Given the description of an element on the screen output the (x, y) to click on. 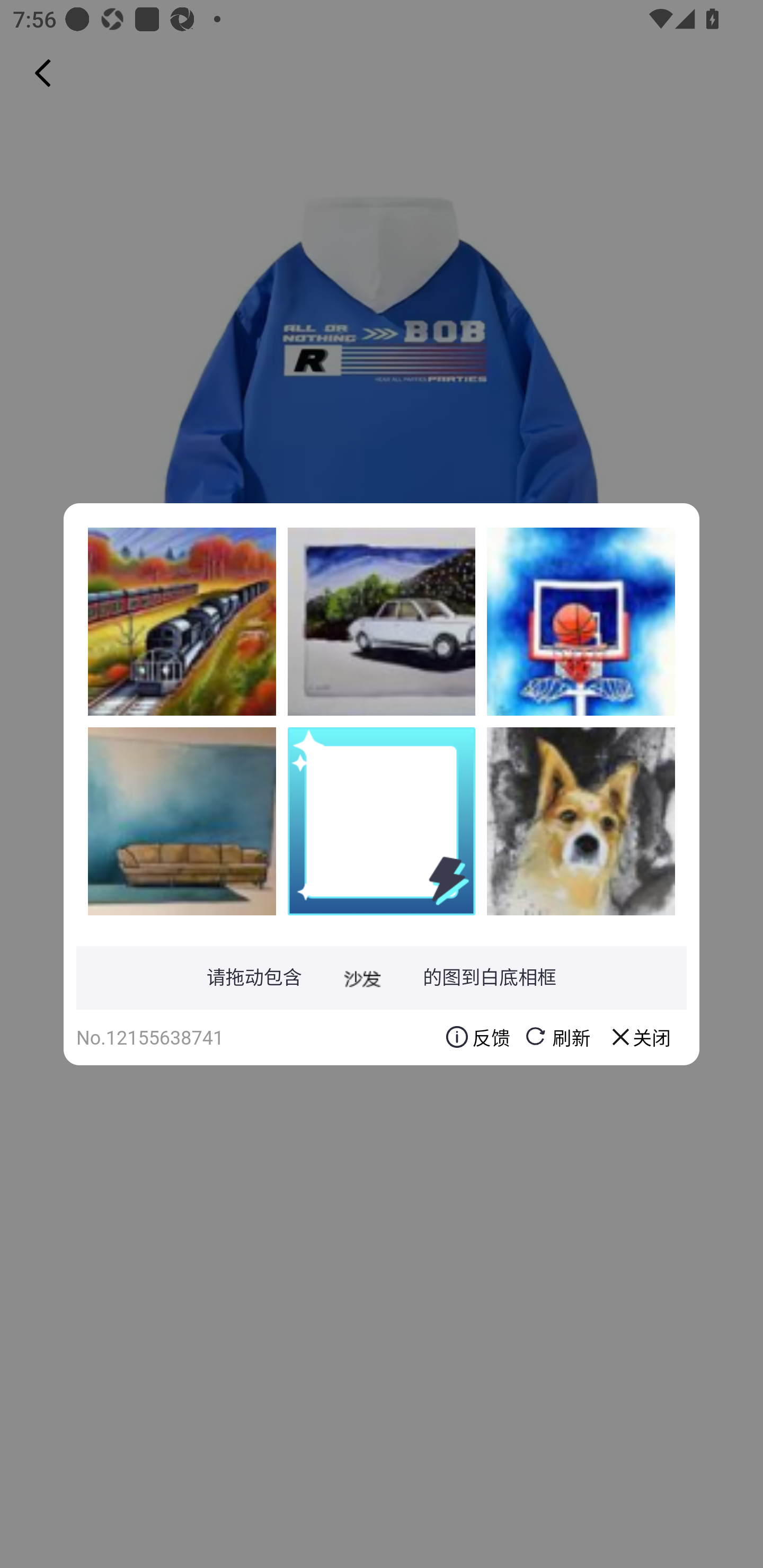
DeSf7ahvbQ7NzDTUcEqYZF9 (181, 820)
b0TbXkT2U3 (580, 820)
